Given the description of an element on the screen output the (x, y) to click on. 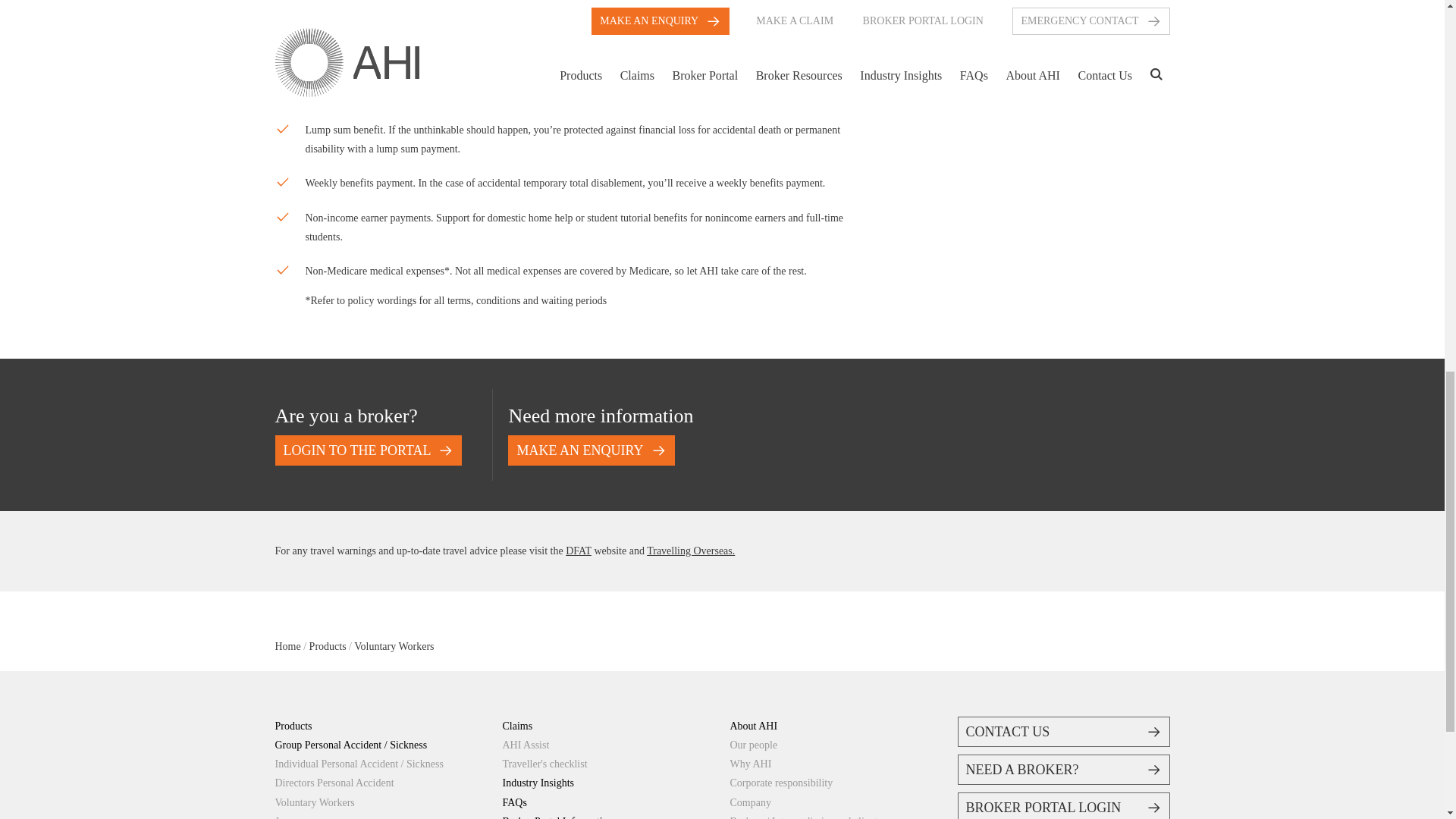
MAKE AN ENQUIRY (591, 450)
Products (327, 645)
DFAT (578, 550)
Travelling Overseas. (690, 550)
Home (287, 645)
LOGIN TO THE PORTAL (368, 450)
